Given the description of an element on the screen output the (x, y) to click on. 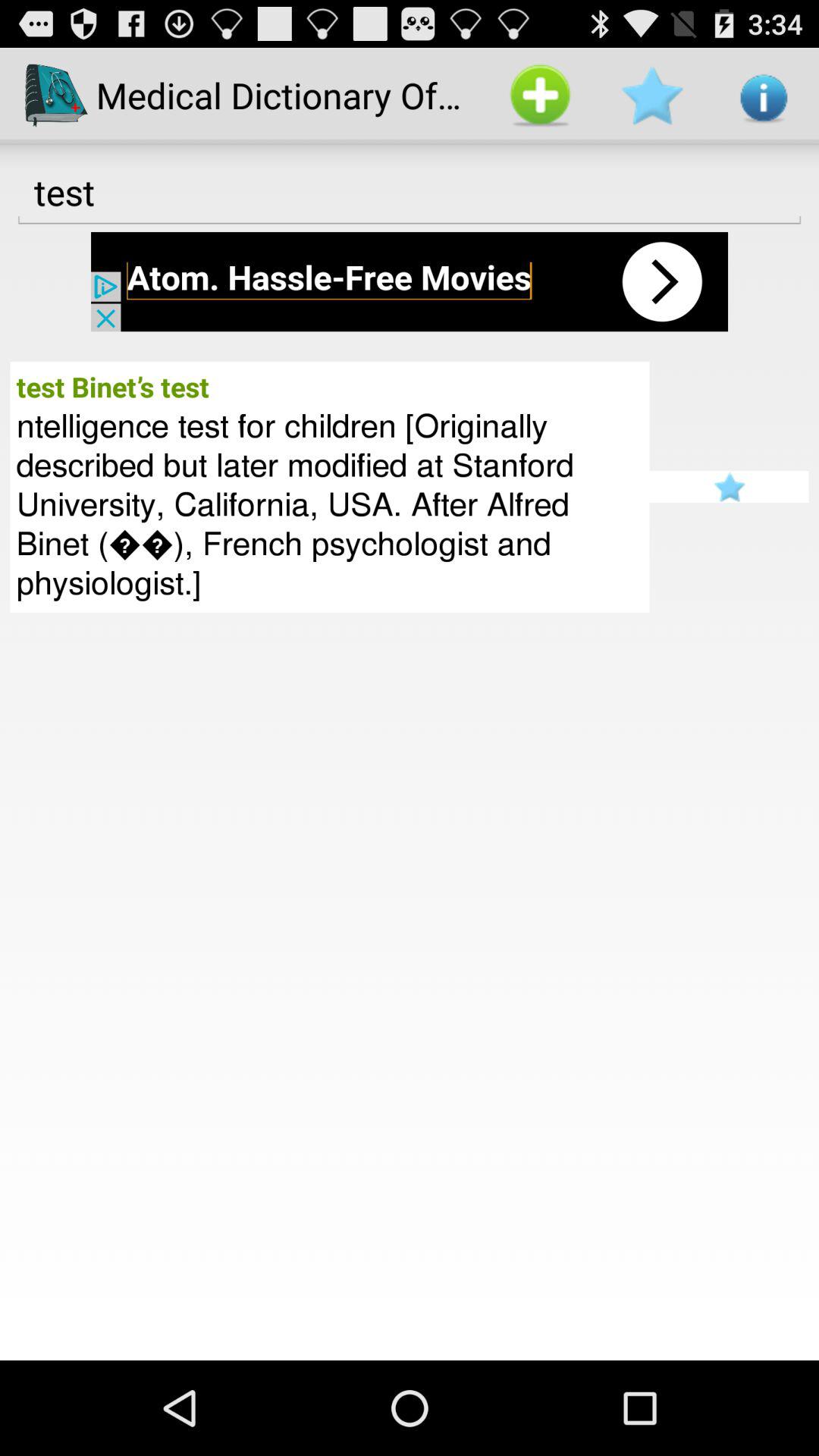
click star button (728, 486)
